Given the description of an element on the screen output the (x, y) to click on. 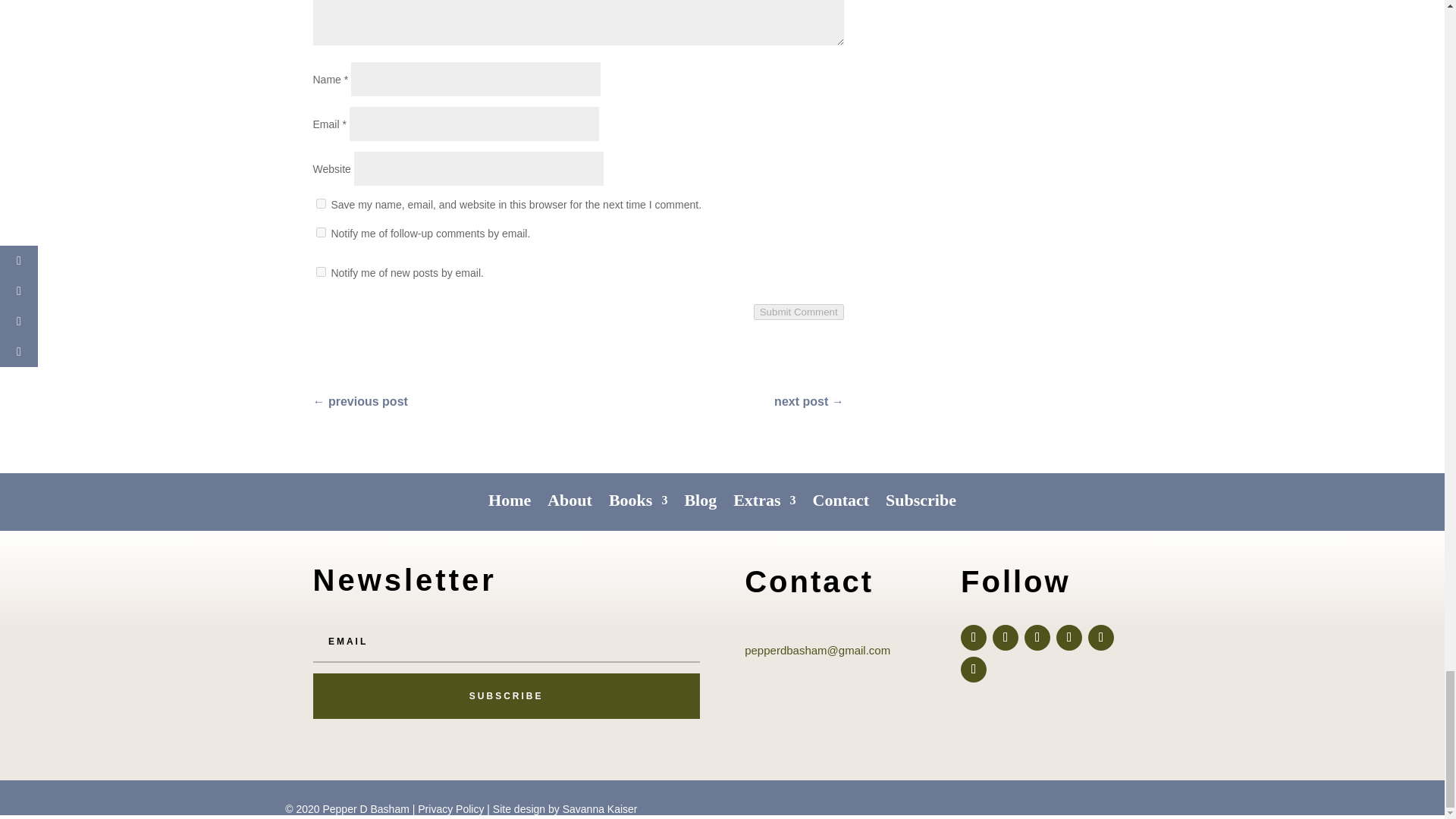
subscribe (319, 232)
yes (319, 203)
subscribe (319, 271)
Submit Comment (799, 311)
